Given the description of an element on the screen output the (x, y) to click on. 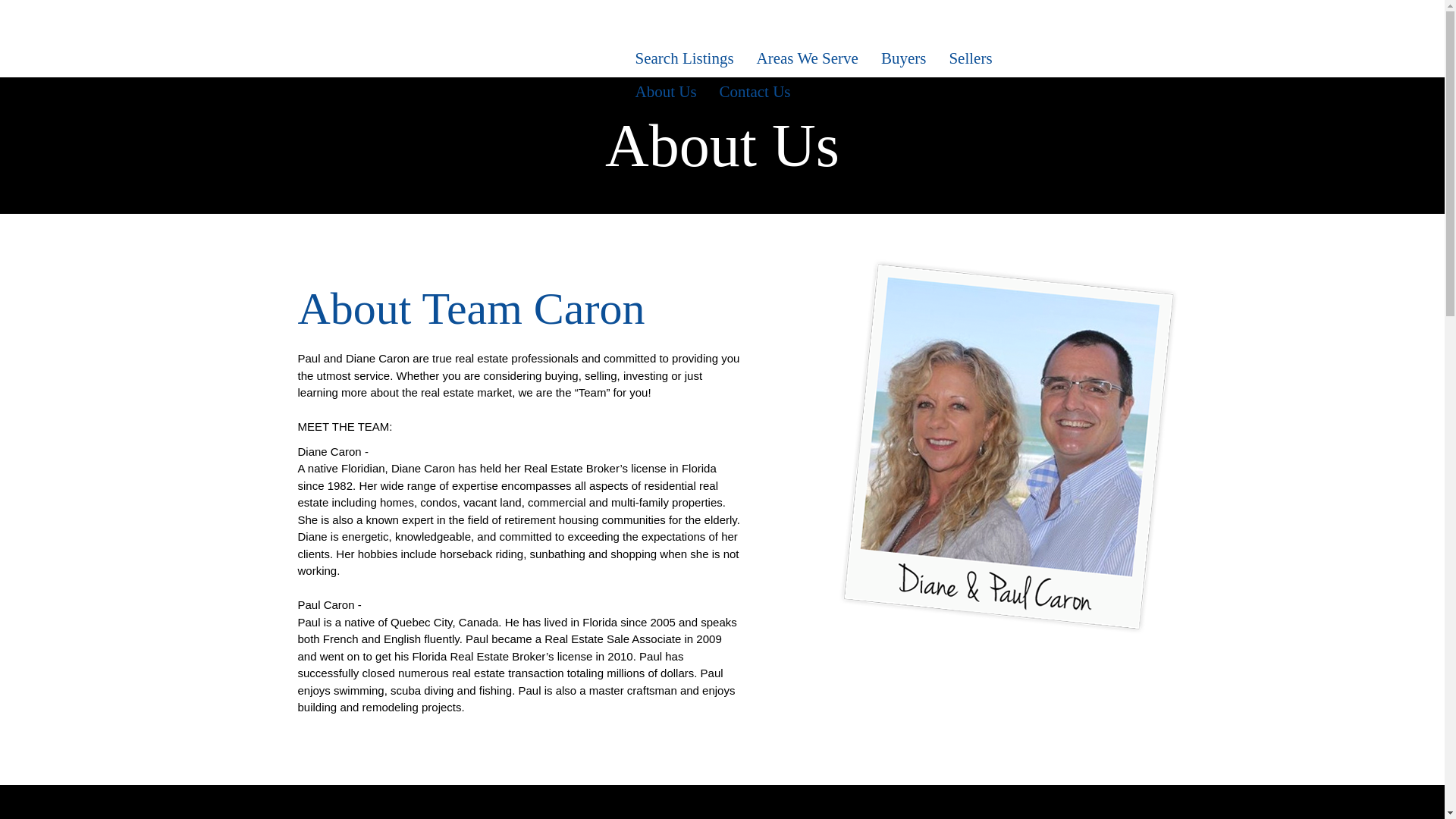
About Us (665, 91)
Areas We Serve (807, 58)
Search Listings (683, 58)
Buyers (903, 58)
Sellers (970, 58)
Team Caron Realty (449, 58)
Contact Us (754, 91)
